Given the description of an element on the screen output the (x, y) to click on. 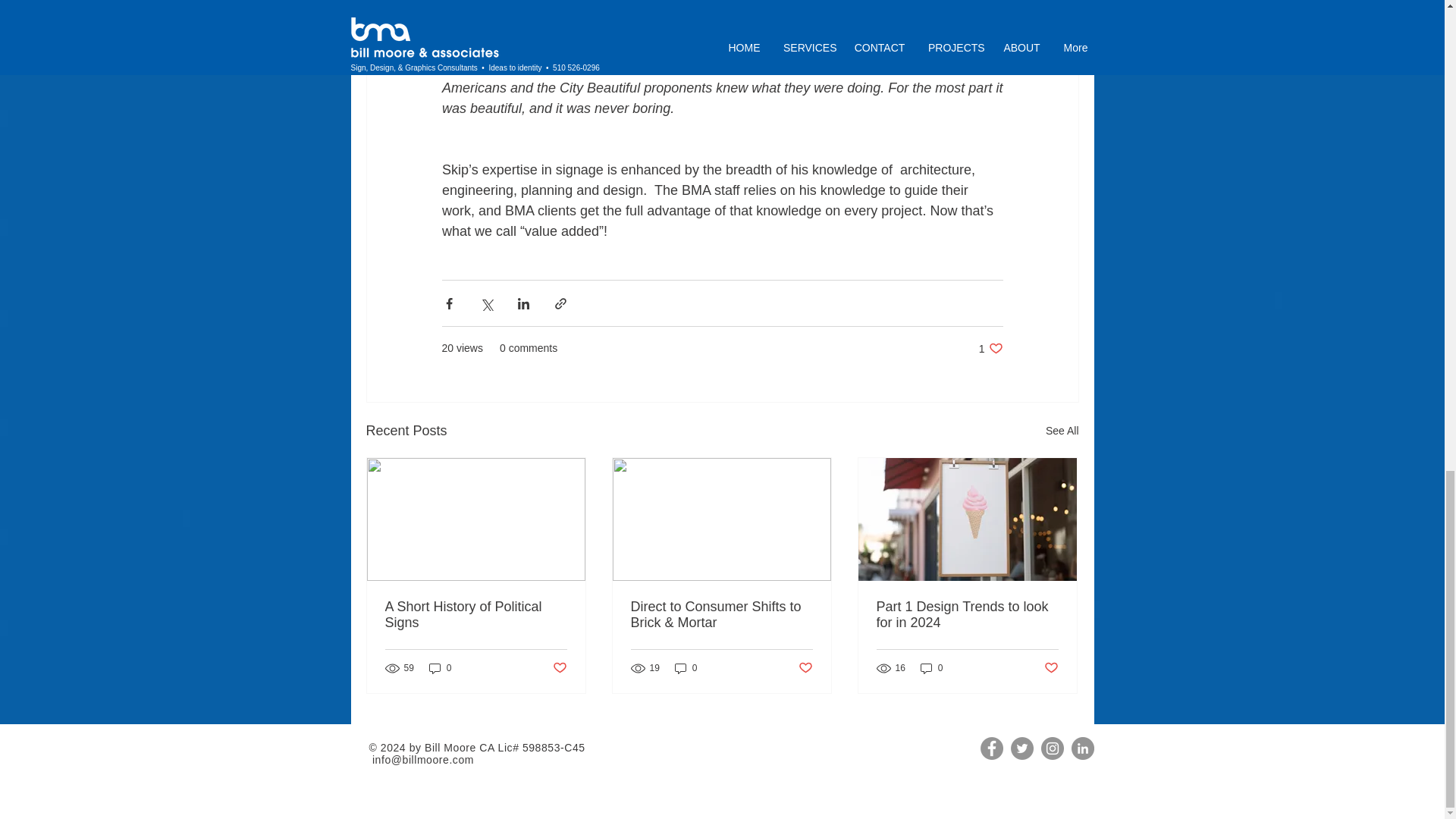
Post not marked as liked (1050, 667)
See All (1061, 431)
Post not marked as liked (804, 667)
A Short History of Political Signs (476, 614)
0 (931, 667)
0 (685, 667)
Post not marked as liked (990, 348)
0 (558, 667)
Part 1 Design Trends to look for in 2024 (440, 667)
